Given the description of an element on the screen output the (x, y) to click on. 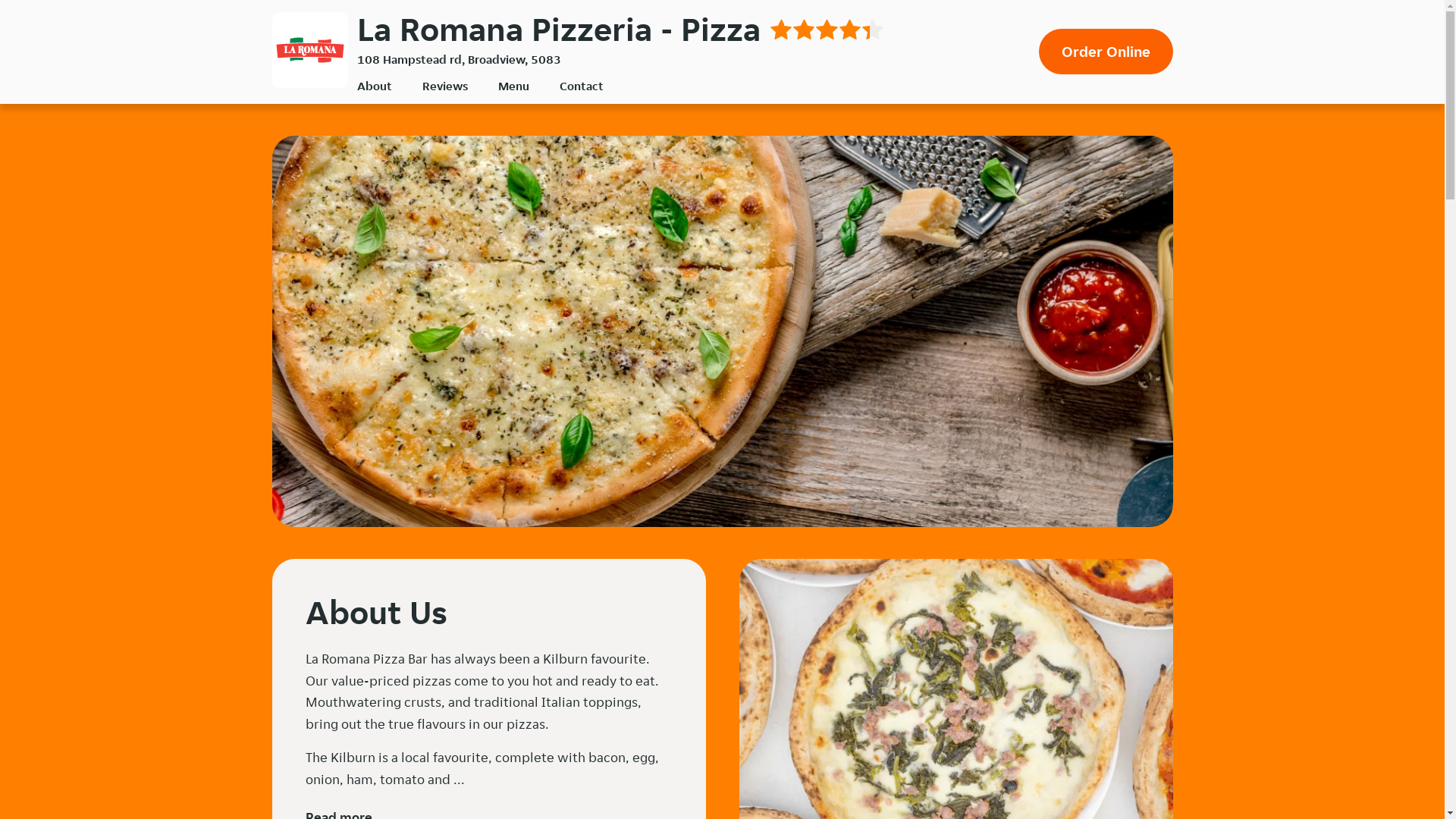
La Romana Pizzeria Element type: hover (309, 49)
About Element type: text (373, 86)
Reviews Element type: text (444, 86)
Menu Element type: text (512, 86)
Order Online Element type: text (1105, 51)
Contact Element type: text (581, 86)
